Given the description of an element on the screen output the (x, y) to click on. 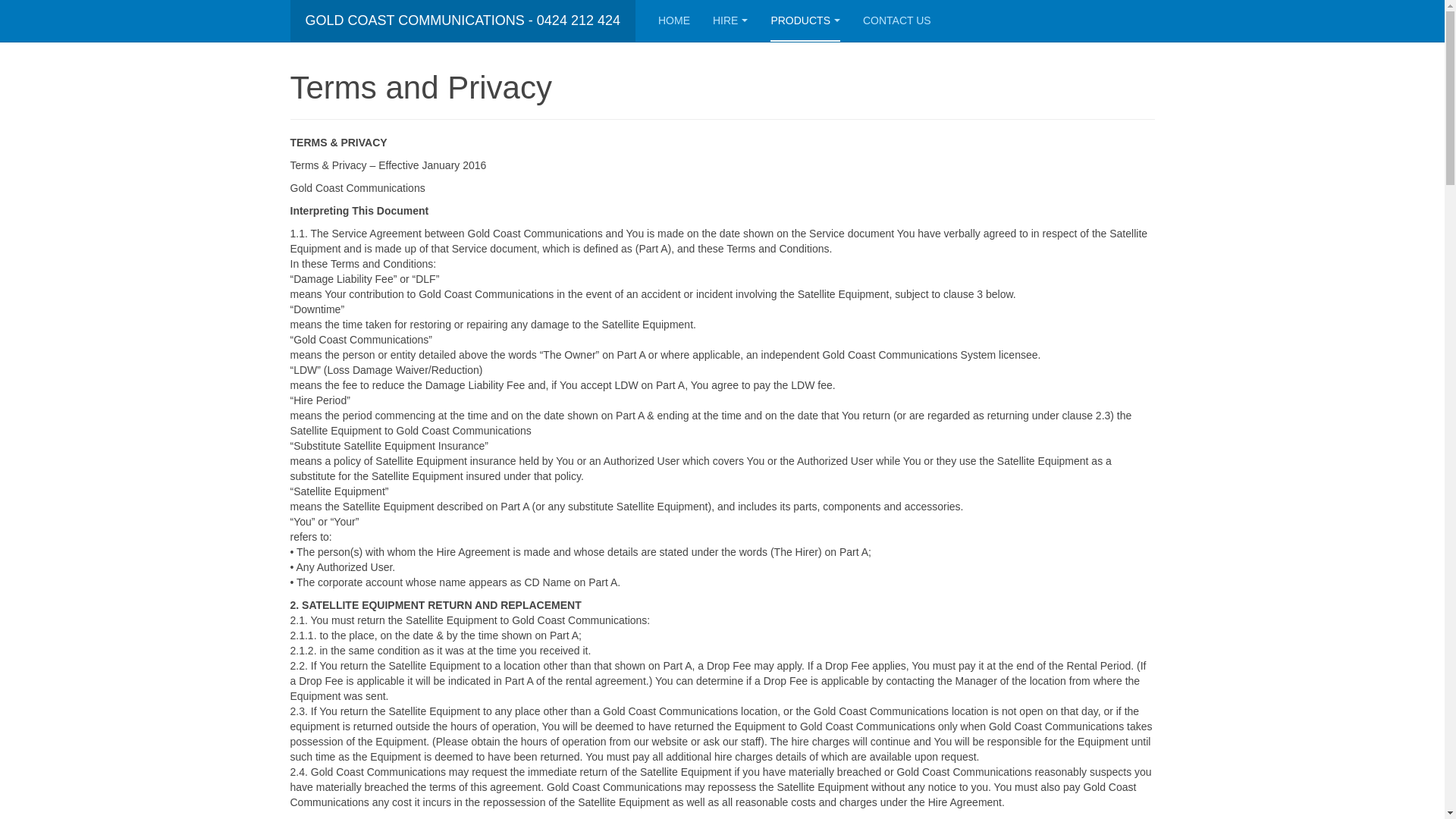
HOME Element type: text (674, 20)
HIRE Element type: text (729, 20)
CONTACT US Element type: text (896, 20)
PRODUCTS Element type: text (805, 20)
GOLD COAST COMMUNICATIONS - 0424 212 424 Element type: text (461, 20)
